Given the description of an element on the screen output the (x, y) to click on. 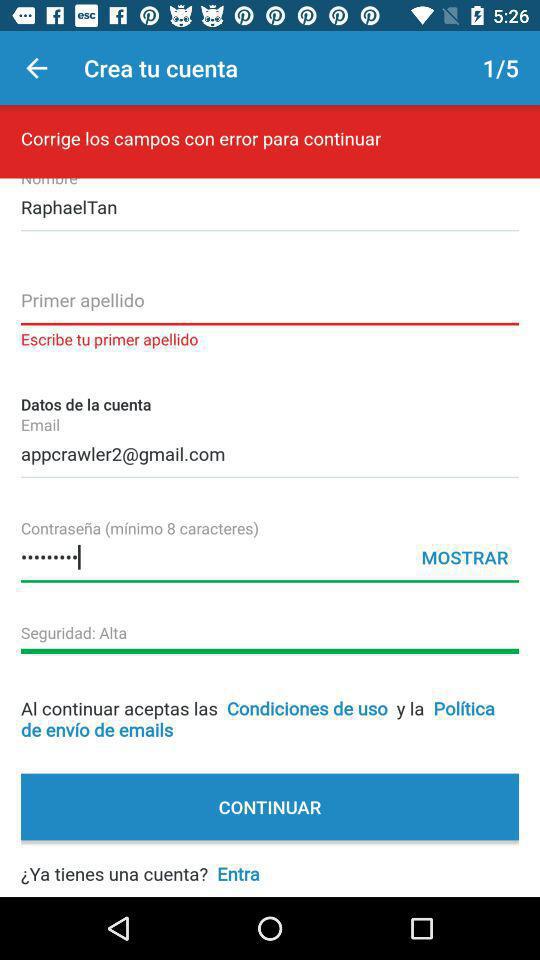
write name (270, 306)
